Given the description of an element on the screen output the (x, y) to click on. 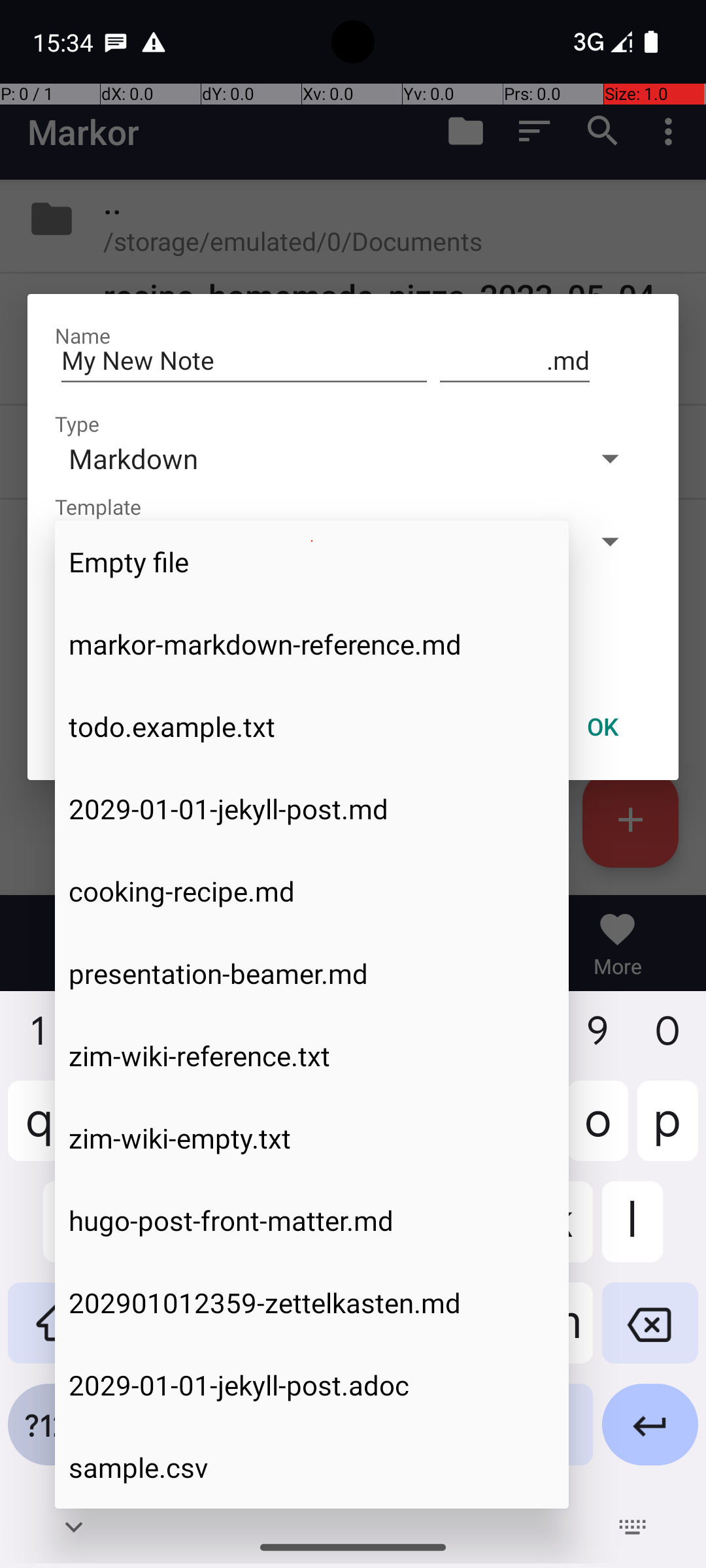
Empty file Element type: android.widget.CheckedTextView (311, 561)
markor-markdown-reference.md Element type: android.widget.CheckedTextView (311, 644)
todo.example.txt Element type: android.widget.CheckedTextView (311, 726)
2029-01-01-jekyll-post.md Element type: android.widget.CheckedTextView (311, 808)
cooking-recipe.md Element type: android.widget.CheckedTextView (311, 890)
presentation-beamer.md Element type: android.widget.CheckedTextView (311, 973)
zim-wiki-reference.txt Element type: android.widget.CheckedTextView (311, 1055)
zim-wiki-empty.txt Element type: android.widget.CheckedTextView (311, 1137)
hugo-post-front-matter.md Element type: android.widget.CheckedTextView (311, 1220)
202901012359-zettelkasten.md Element type: android.widget.CheckedTextView (311, 1302)
2029-01-01-jekyll-post.adoc Element type: android.widget.CheckedTextView (311, 1384)
sample.csv Element type: android.widget.CheckedTextView (311, 1467)
